Given the description of an element on the screen output the (x, y) to click on. 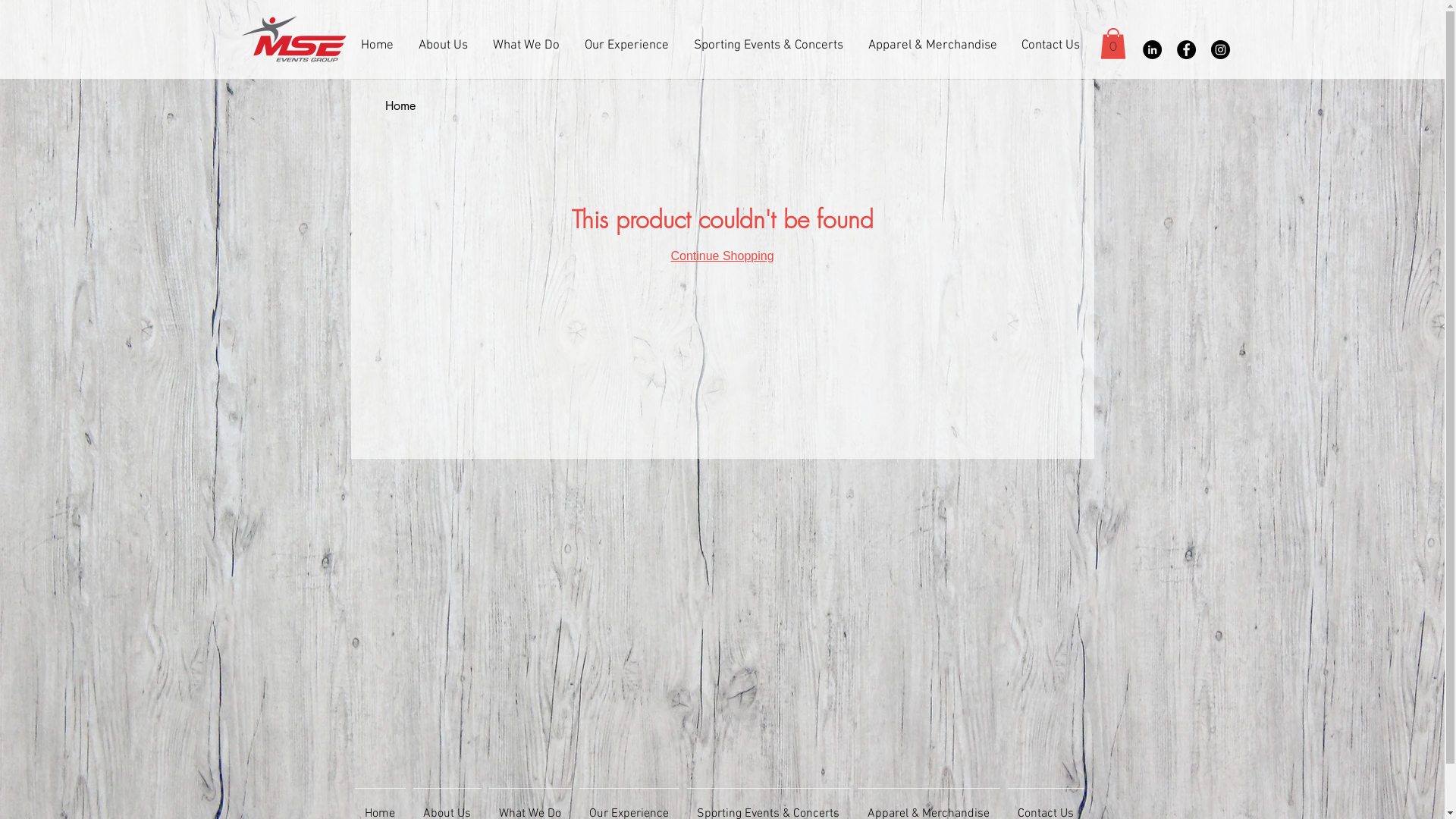
About Us Element type: text (444, 38)
Continue Shopping Element type: text (721, 255)
Home Element type: text (378, 38)
Contact Us Element type: text (1052, 38)
Home Element type: text (400, 105)
0 Element type: text (1112, 43)
Apparel & Merchandise Element type: text (934, 38)
